Given the description of an element on the screen output the (x, y) to click on. 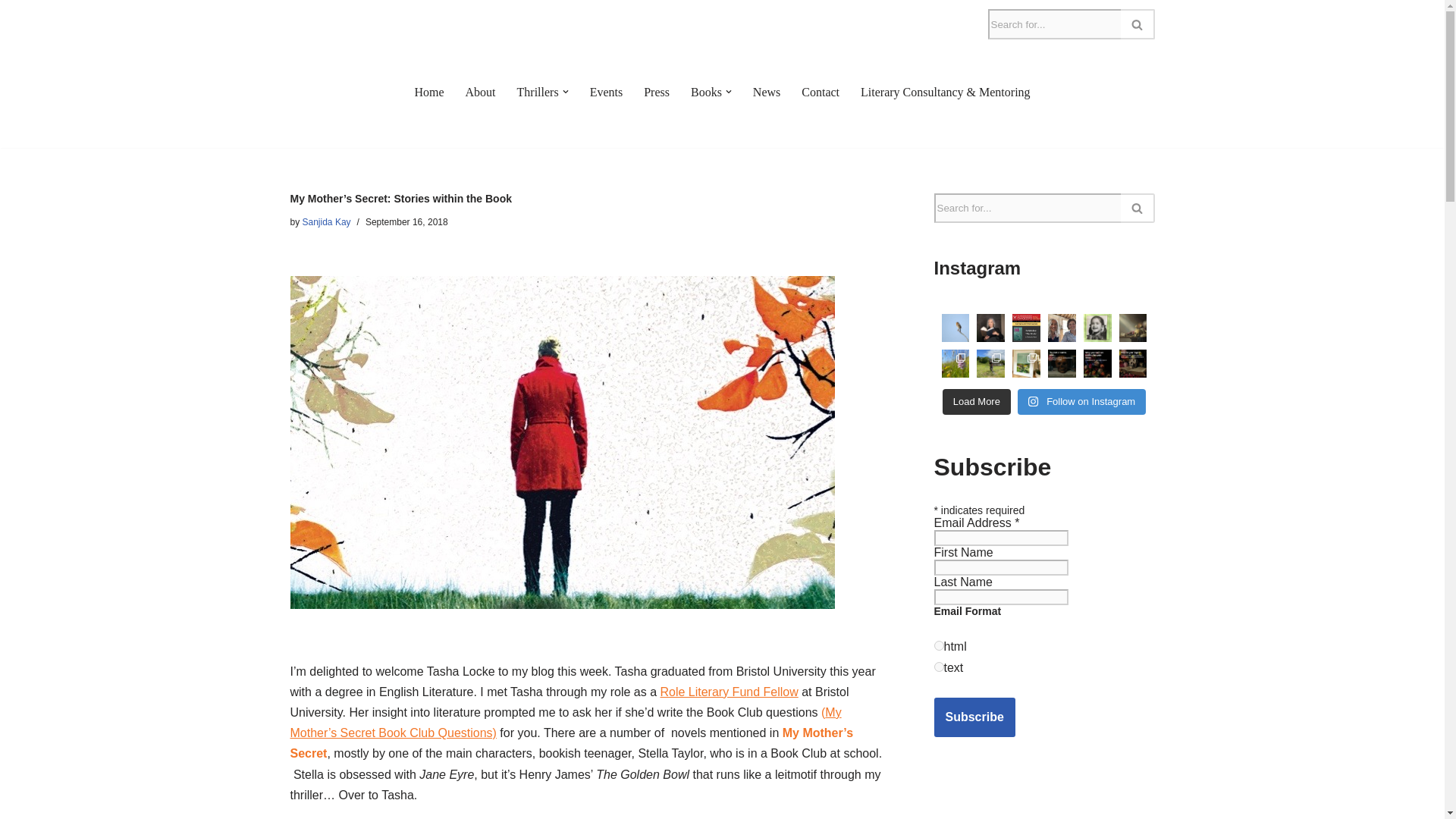
text (938, 666)
Subscribe (974, 717)
Home (428, 91)
Events (606, 91)
Skip to content (11, 31)
Posts by Sanjida Kay (326, 222)
About (480, 91)
Press (656, 91)
Thrillers (537, 91)
News (766, 91)
html (938, 645)
Contact (821, 91)
Books (706, 91)
